Given the description of an element on the screen output the (x, y) to click on. 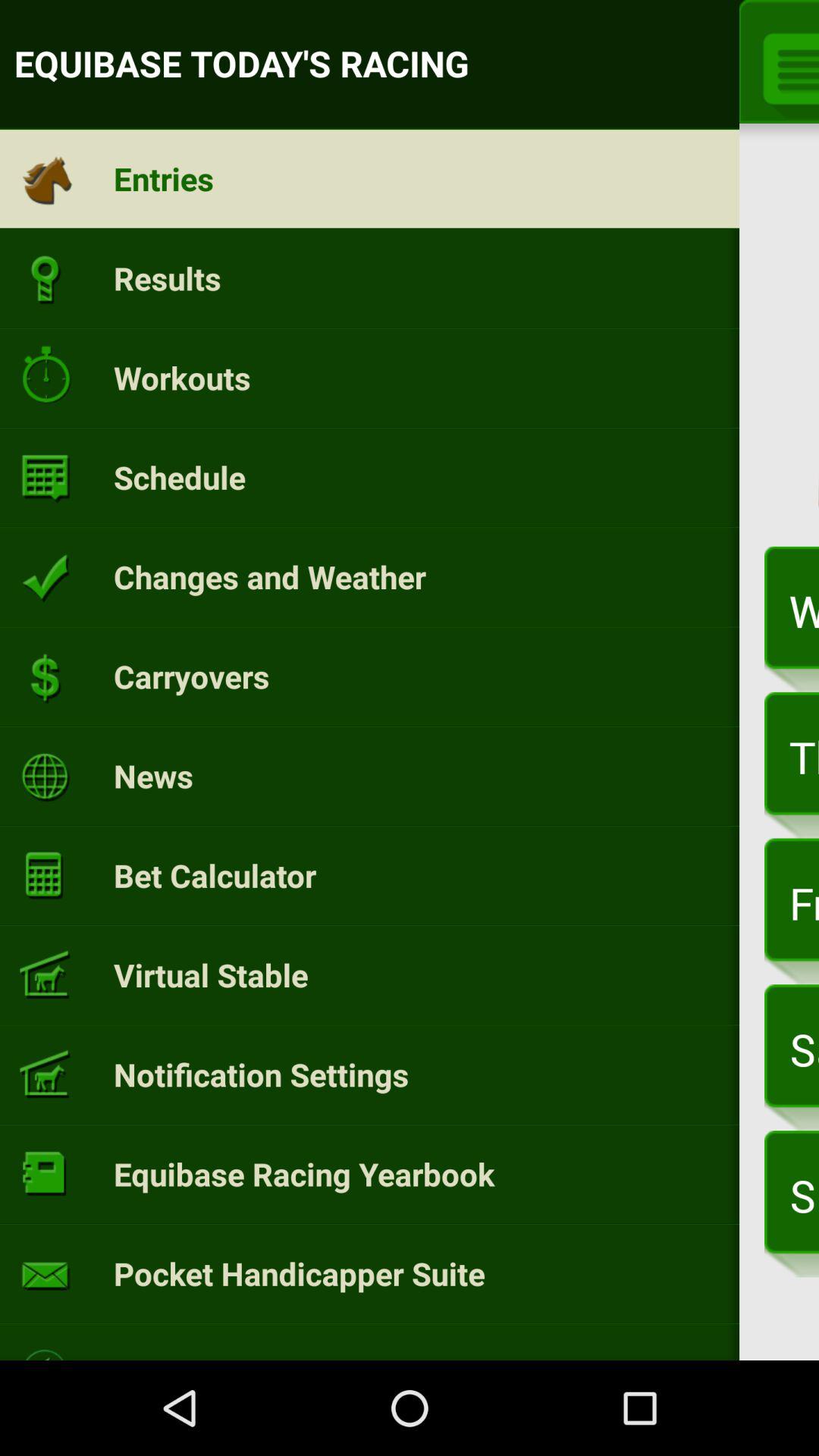
press the item to the left of saturday, apr 1 item (260, 1073)
